Given the description of an element on the screen output the (x, y) to click on. 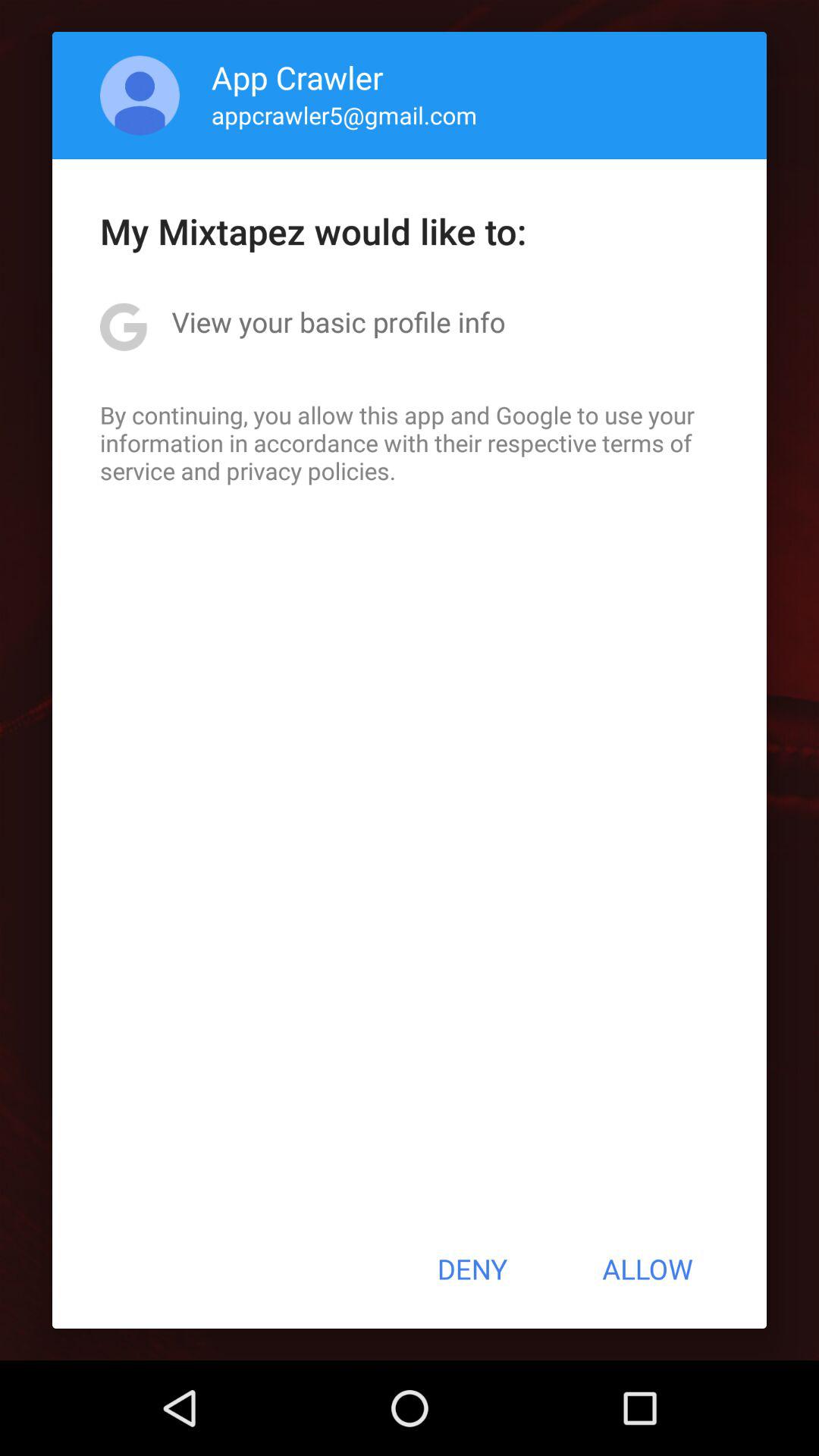
open item at the bottom (471, 1268)
